Given the description of an element on the screen output the (x, y) to click on. 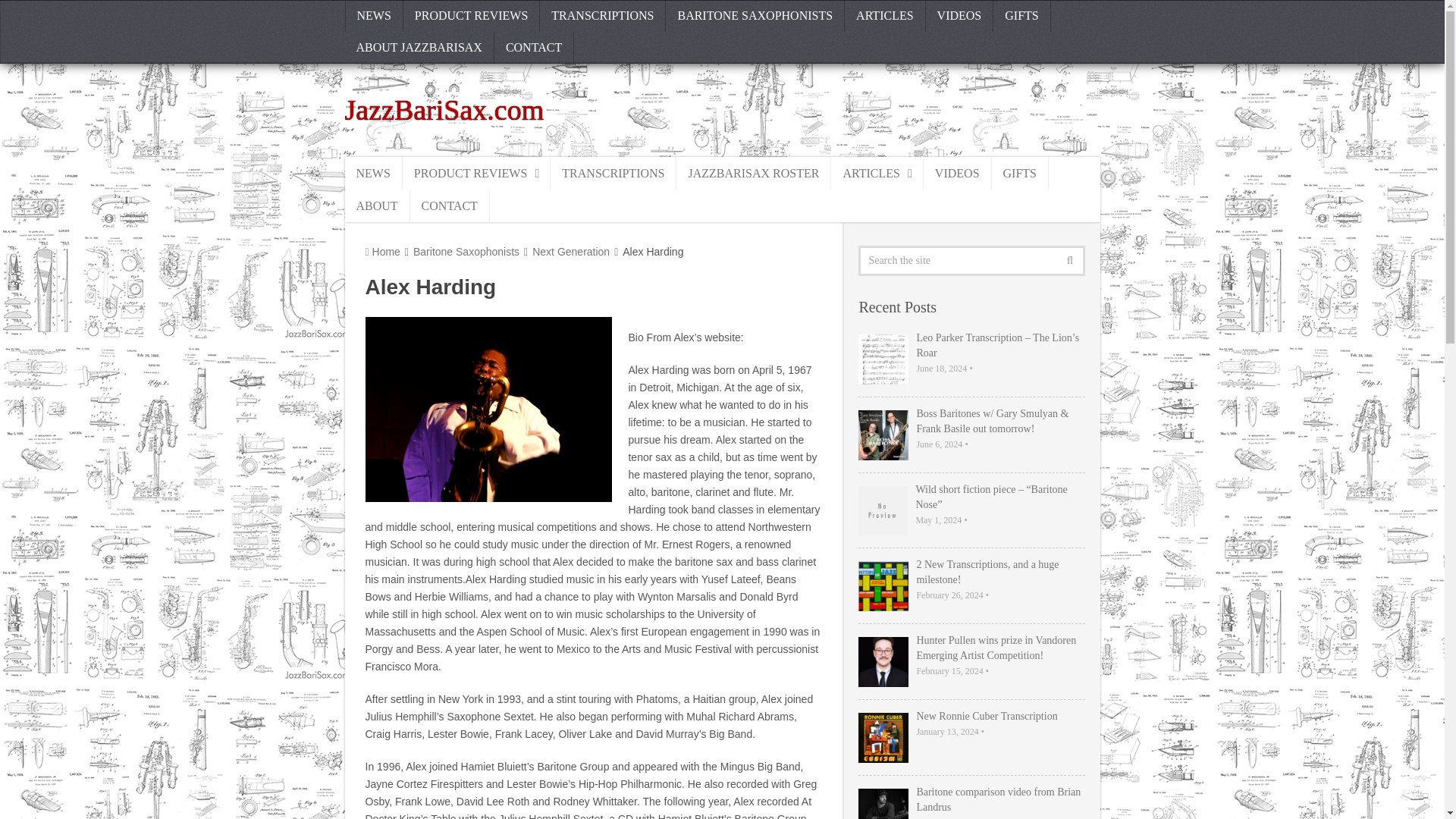
2 New Transcriptions, and a huge milestone! (971, 572)
TRANSCRIPTIONS (602, 15)
PRODUCT REVIEWS (471, 15)
BARITONE SAXOPHONISTS (754, 15)
NEWS (373, 15)
